Given the description of an element on the screen output the (x, y) to click on. 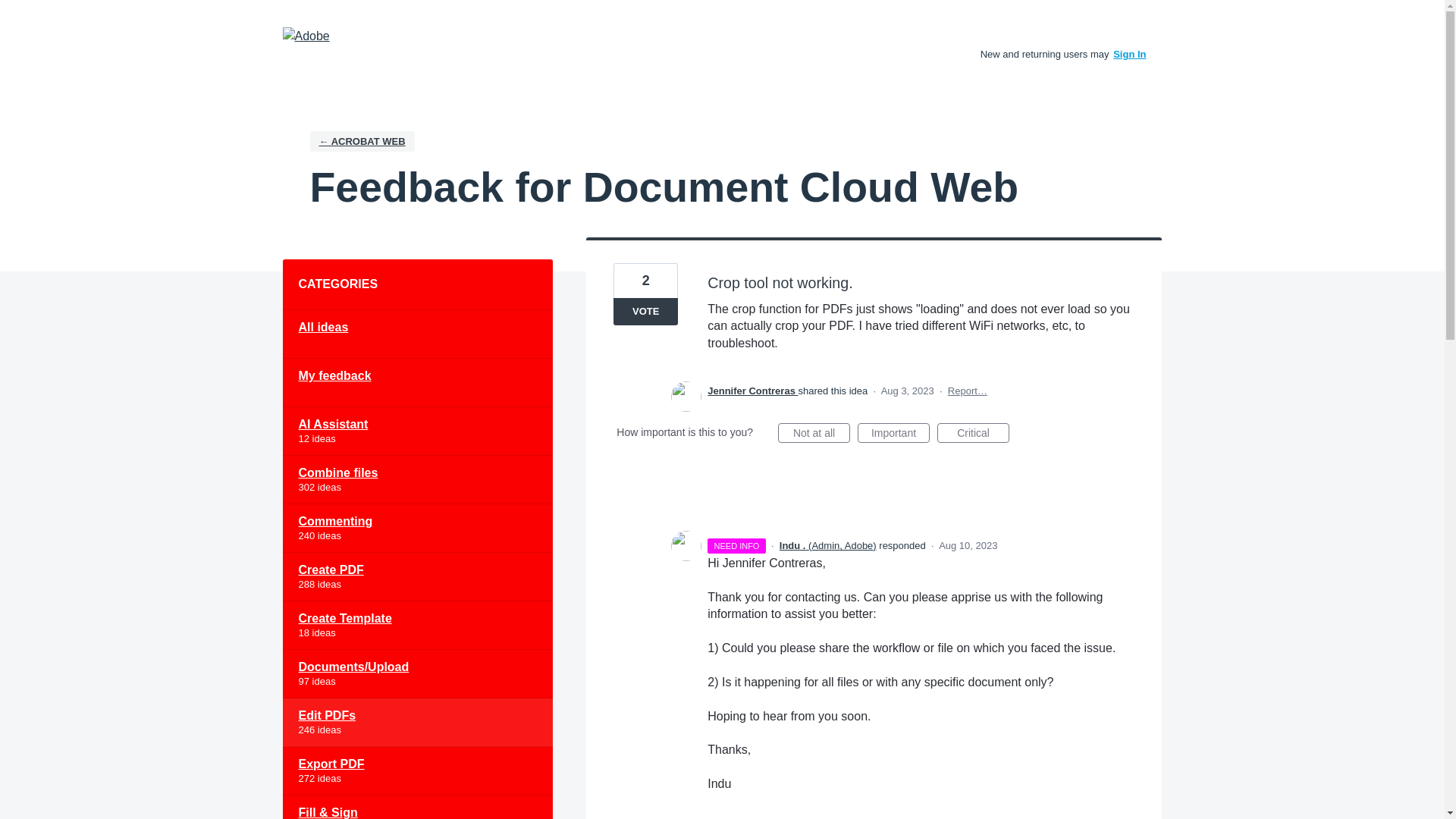
Create PDF (417, 576)
All ideas (417, 334)
Skip to content (12, 12)
View all ideas in category Export PDF (417, 770)
Export PDF (417, 770)
View all ideas in category Combine files (417, 479)
Edit PDFs (417, 722)
View all ideas in category AI Assistant (417, 431)
AI Assistant (417, 431)
View all ideas in category Commenting (417, 528)
